Given the description of an element on the screen output the (x, y) to click on. 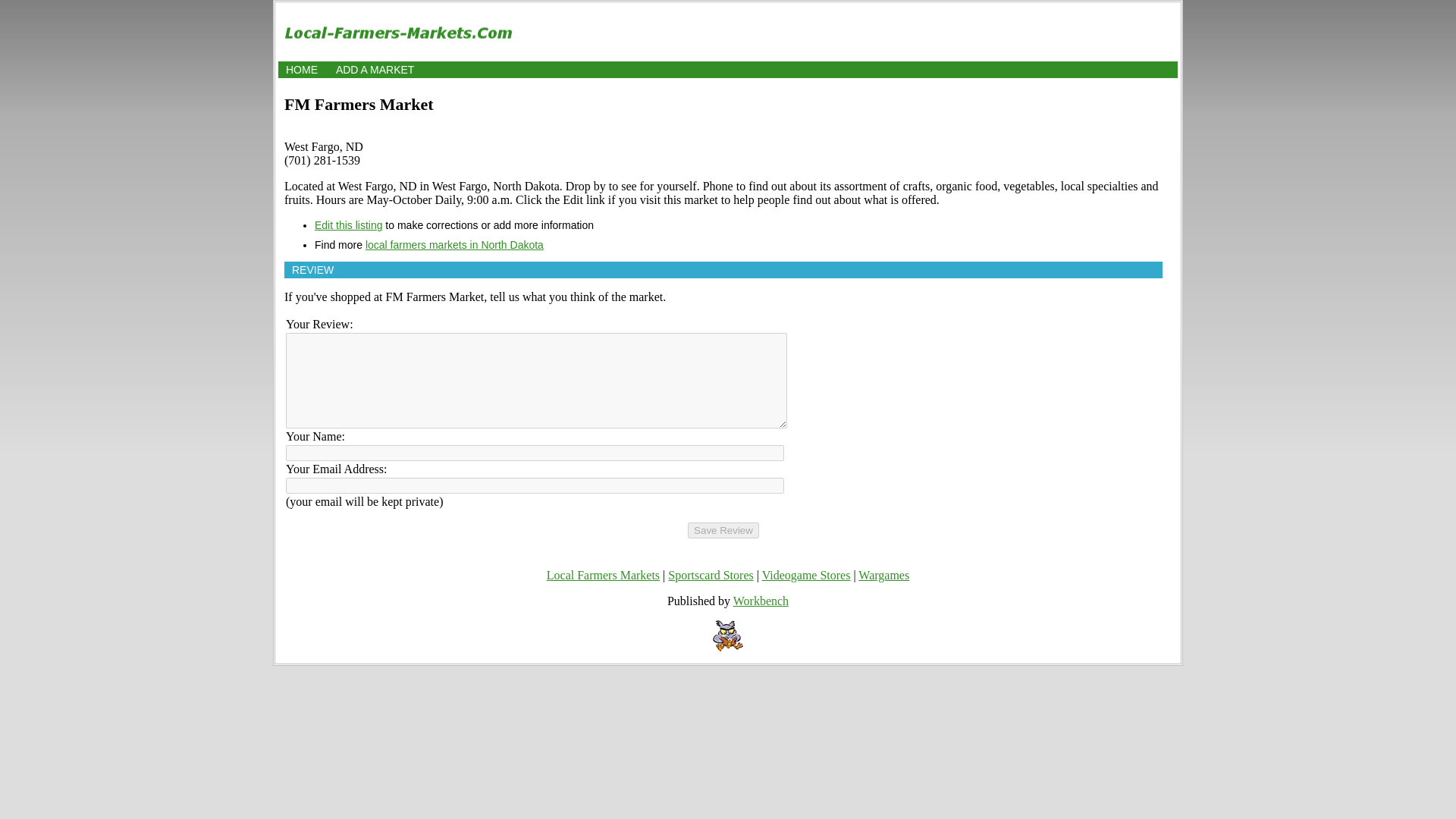
Sportscard Stores (710, 574)
Save Review (722, 530)
Save Review (722, 530)
Workbench (761, 600)
Wargames (883, 574)
local farmers markets in North Dakota (454, 244)
Local Farmers Markets (603, 574)
Videogame Stores (805, 574)
HOME (301, 69)
Edit this listing (347, 224)
ADD A MARKET (375, 69)
